Given the description of an element on the screen output the (x, y) to click on. 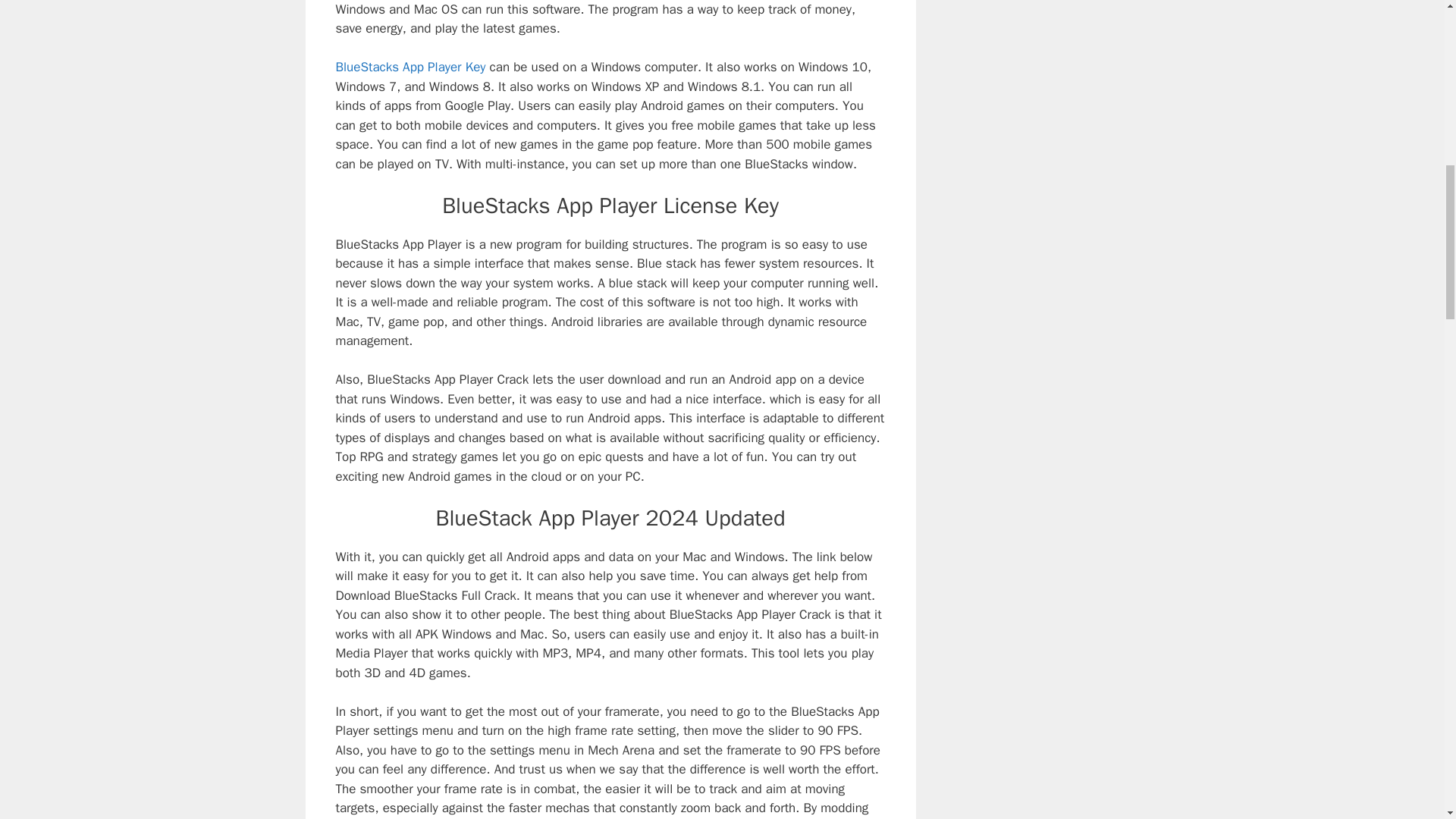
BlueStacks App Player Key (409, 66)
